Given the description of an element on the screen output the (x, y) to click on. 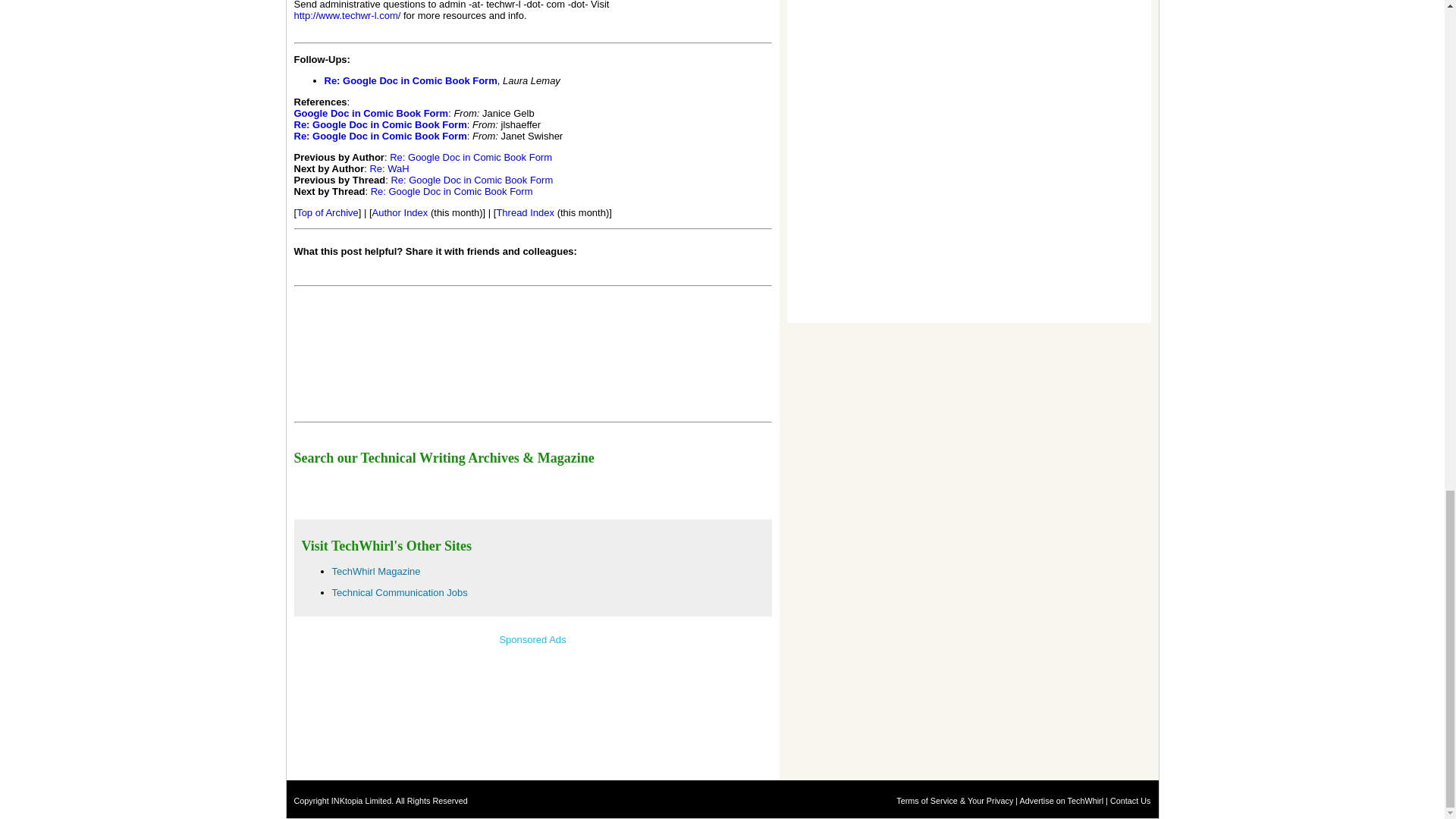
Re: Google Doc in Comic Book Form (471, 179)
Re: Google Doc in Comic Book Form (380, 124)
Re: Google Doc in Comic Book Form (410, 80)
Author Index (400, 212)
Thread Index (525, 212)
Re: Google Doc in Comic Book Form (380, 135)
Re: Google Doc in Comic Book Form (451, 191)
Google Doc in Comic Book Form (371, 112)
Top of Archive (327, 212)
Re: WaH (389, 168)
3rd party ad content (900, 123)
Re: Google Doc in Comic Book Form (470, 156)
